Given the description of an element on the screen output the (x, y) to click on. 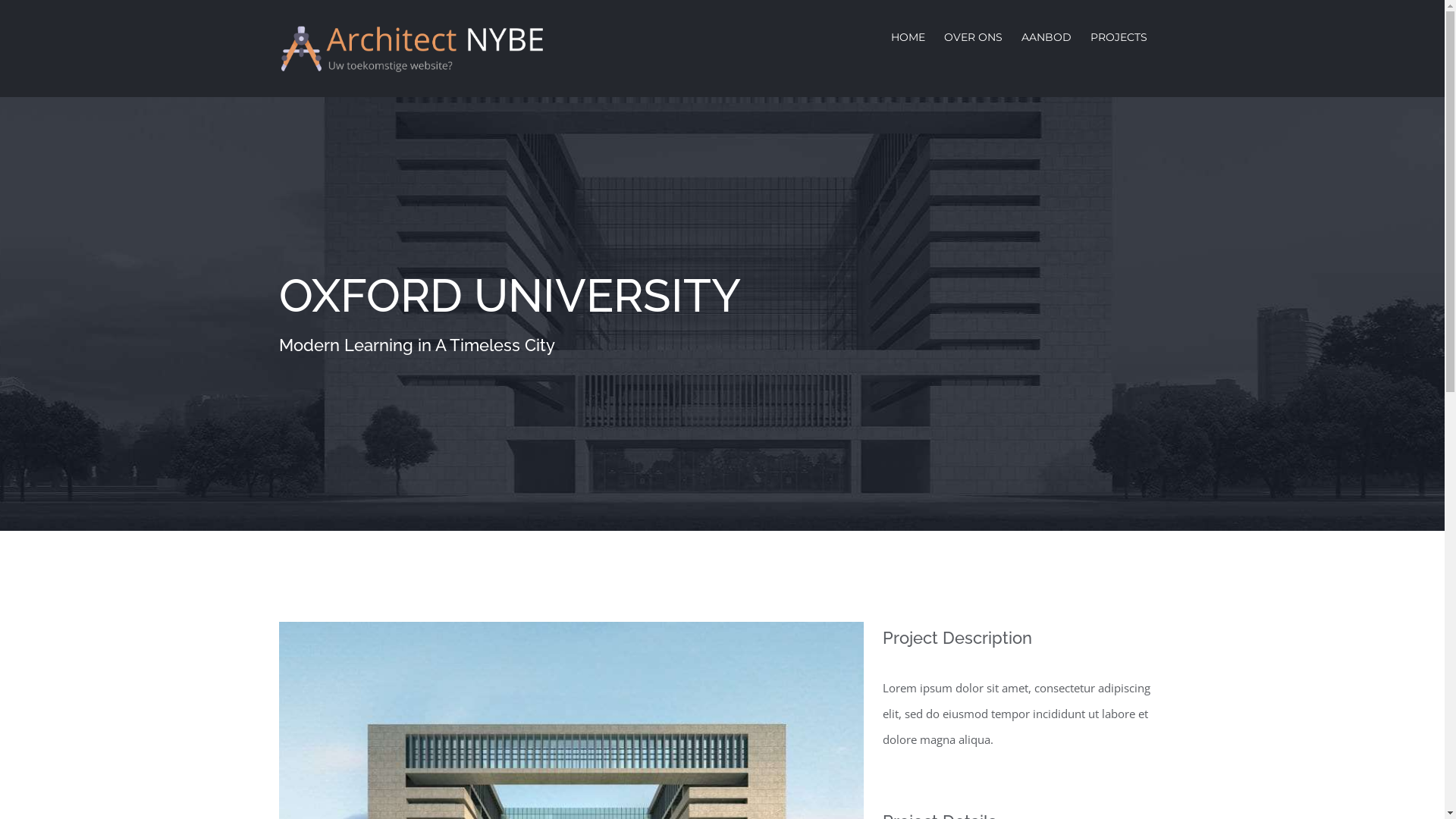
AANBOD Element type: text (1045, 36)
HOME Element type: text (907, 36)
OVER ONS Element type: text (972, 36)
PROJECTS Element type: text (1118, 36)
